Given the description of an element on the screen output the (x, y) to click on. 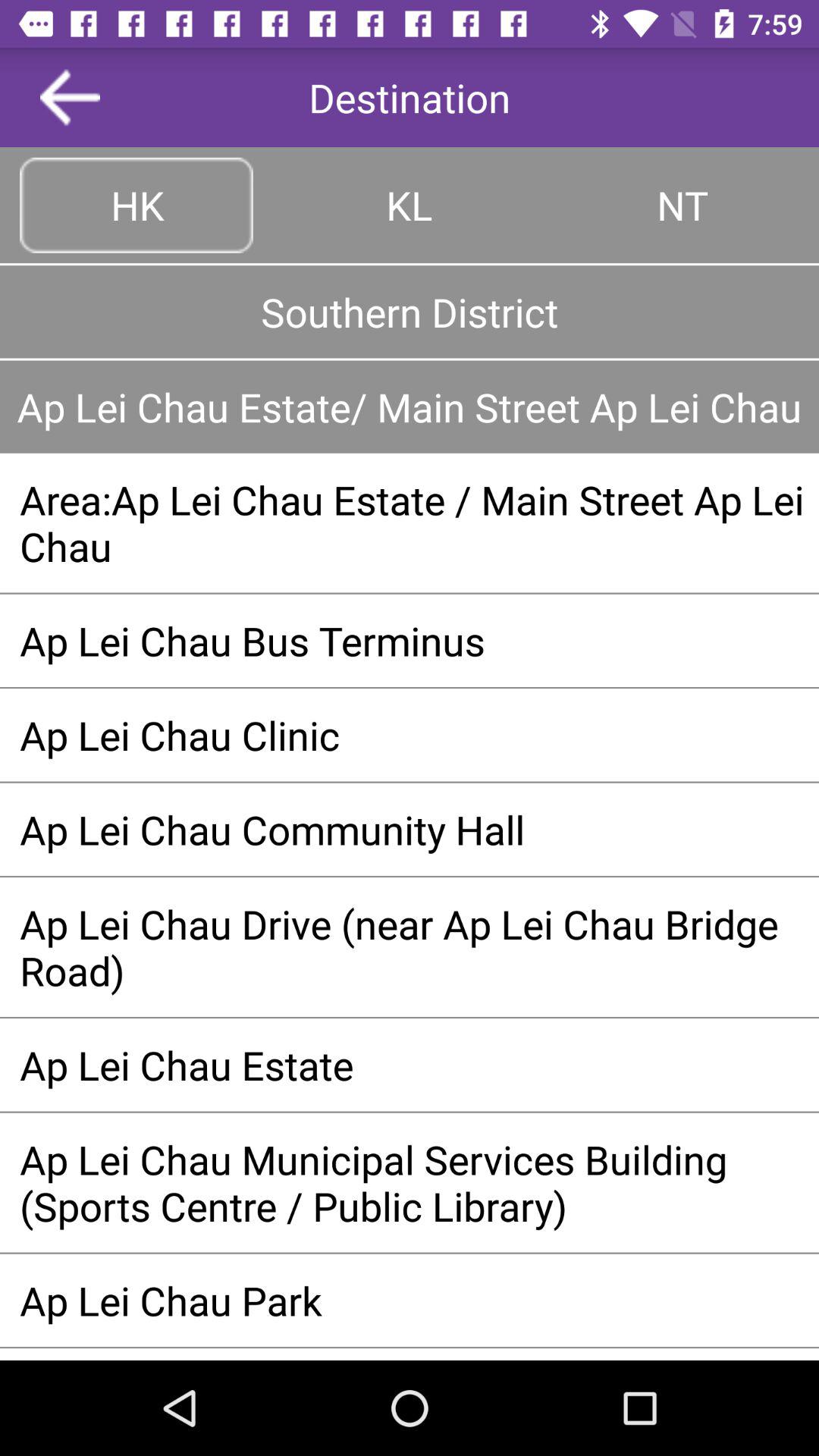
choose the app next to destination app (69, 97)
